Given the description of an element on the screen output the (x, y) to click on. 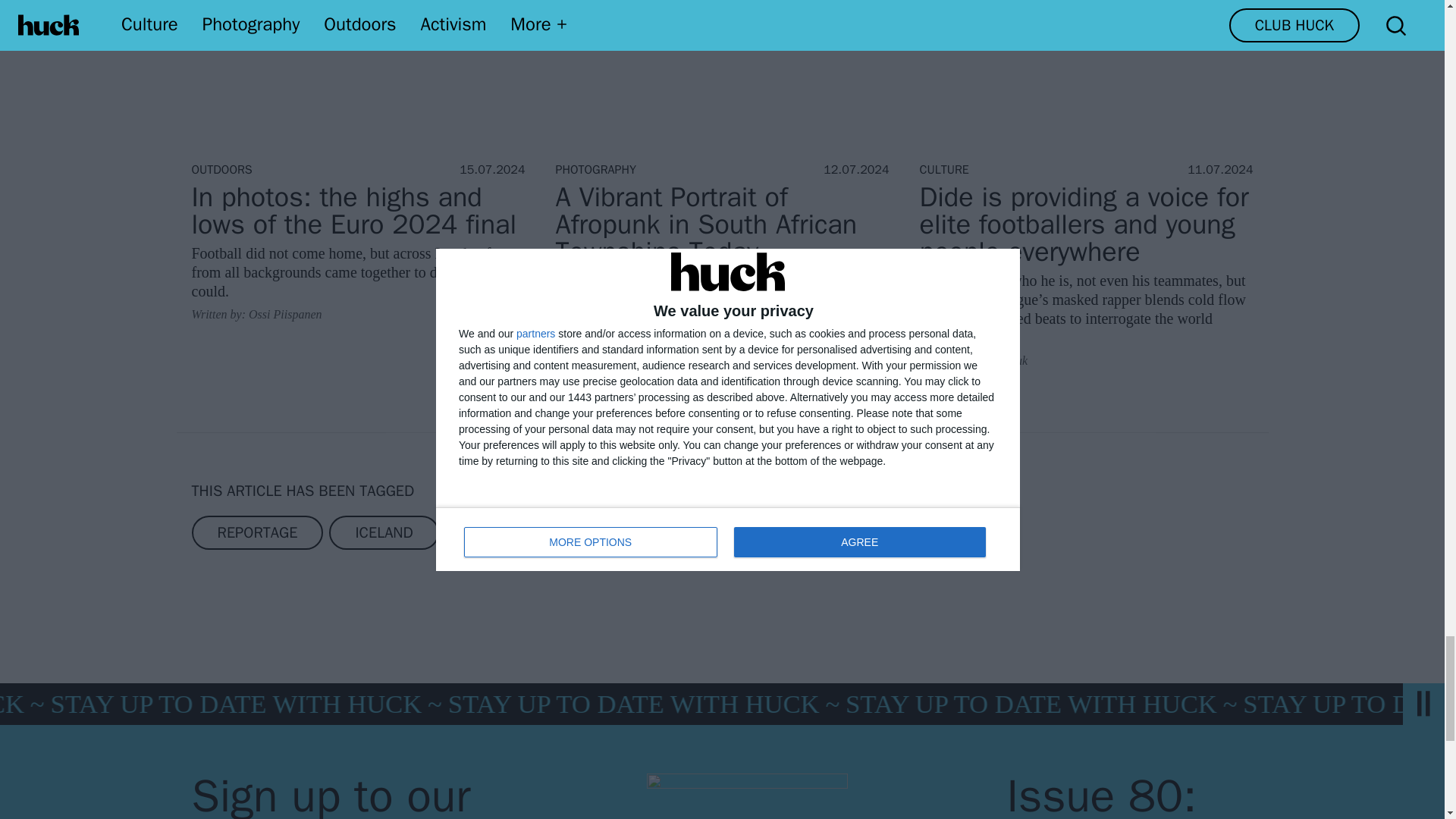
LARS HAMER (515, 532)
PANAMA PAPERS (673, 532)
ICELAND (383, 532)
PIRATE PARTY (834, 532)
REPORTAGE (256, 532)
... (945, 532)
